Given the description of an element on the screen output the (x, y) to click on. 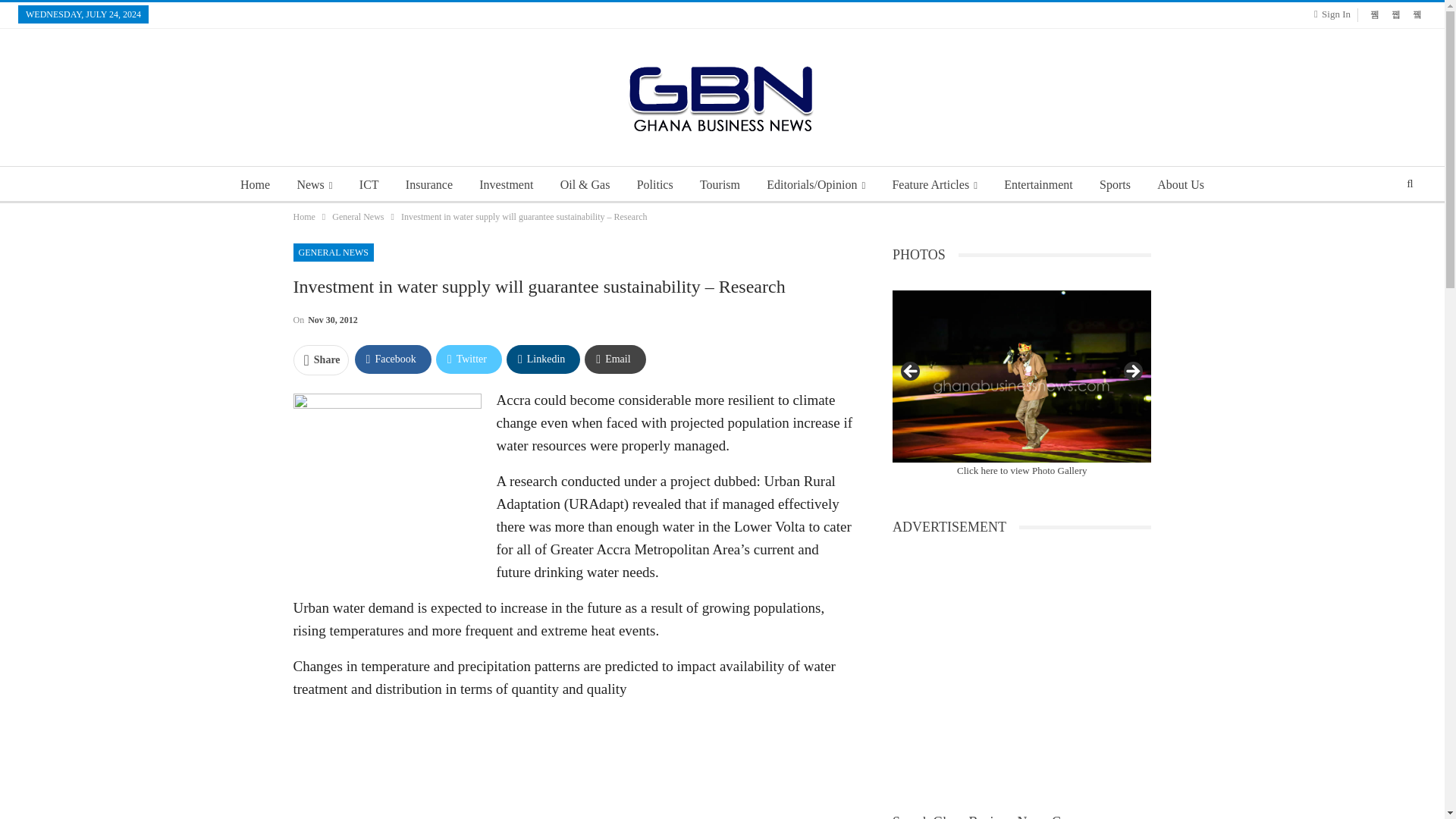
Sign In (1335, 13)
Feature Articles (934, 185)
Linkedin (542, 358)
News (313, 185)
Sports (1115, 185)
Home (303, 216)
Home (255, 185)
Entertainment (1037, 185)
Water project (386, 472)
GENERAL NEWS (333, 252)
ICT (369, 185)
Insurance (428, 185)
Politics (654, 185)
Email (615, 358)
Advertisement (574, 766)
